Given the description of an element on the screen output the (x, y) to click on. 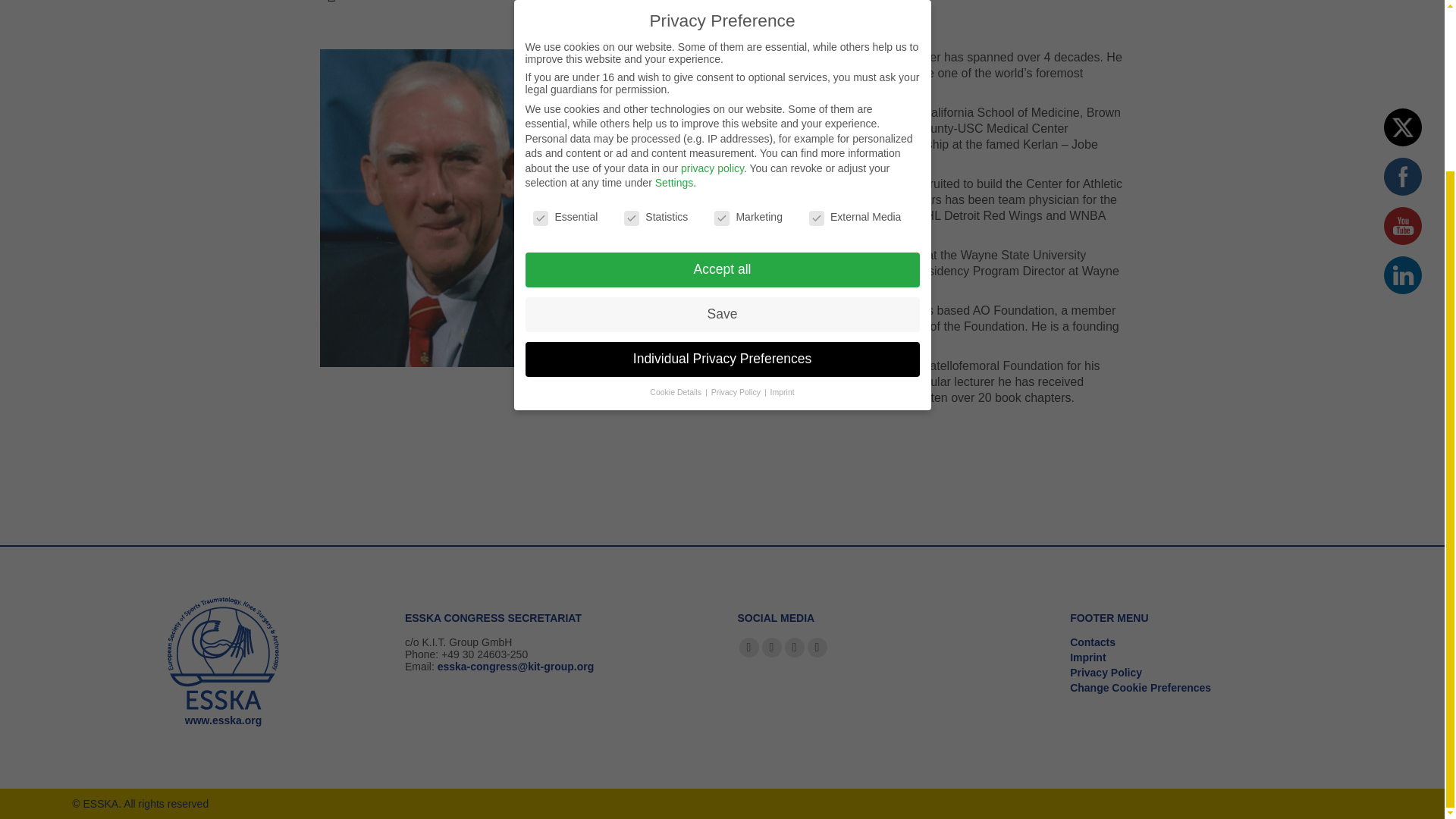
YouTube page opens in new window (793, 647)
Linkedin page opens in new window (816, 647)
LinkedIn (1402, 274)
Twitter (1402, 127)
Facebook page opens in new window (748, 647)
X page opens in new window (770, 647)
Facebook (1402, 176)
YouTube (1402, 225)
